Given the description of an element on the screen output the (x, y) to click on. 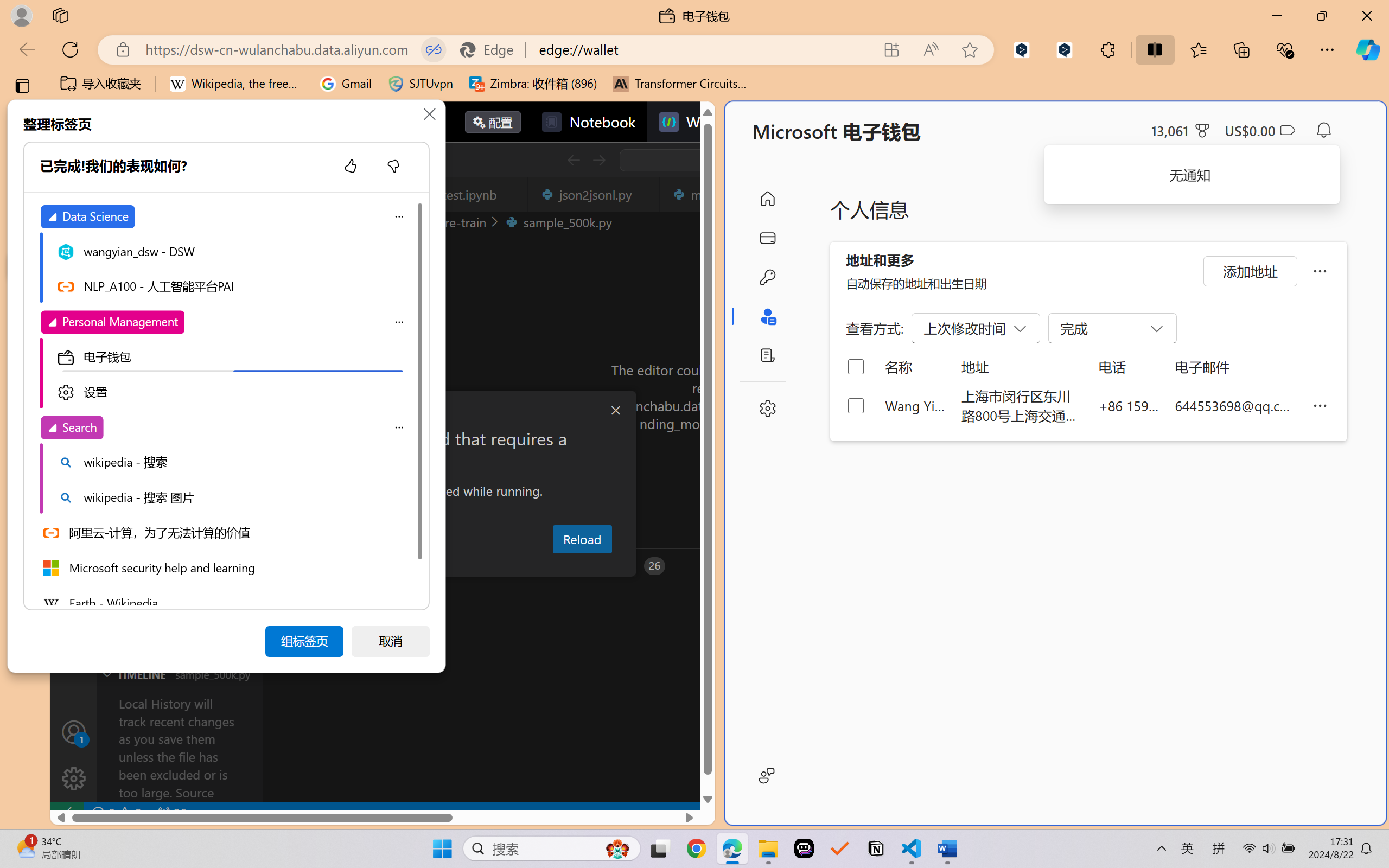
json2jsonl.py (593, 194)
Google Chrome (696, 848)
remote (66, 812)
